Given the description of an element on the screen output the (x, y) to click on. 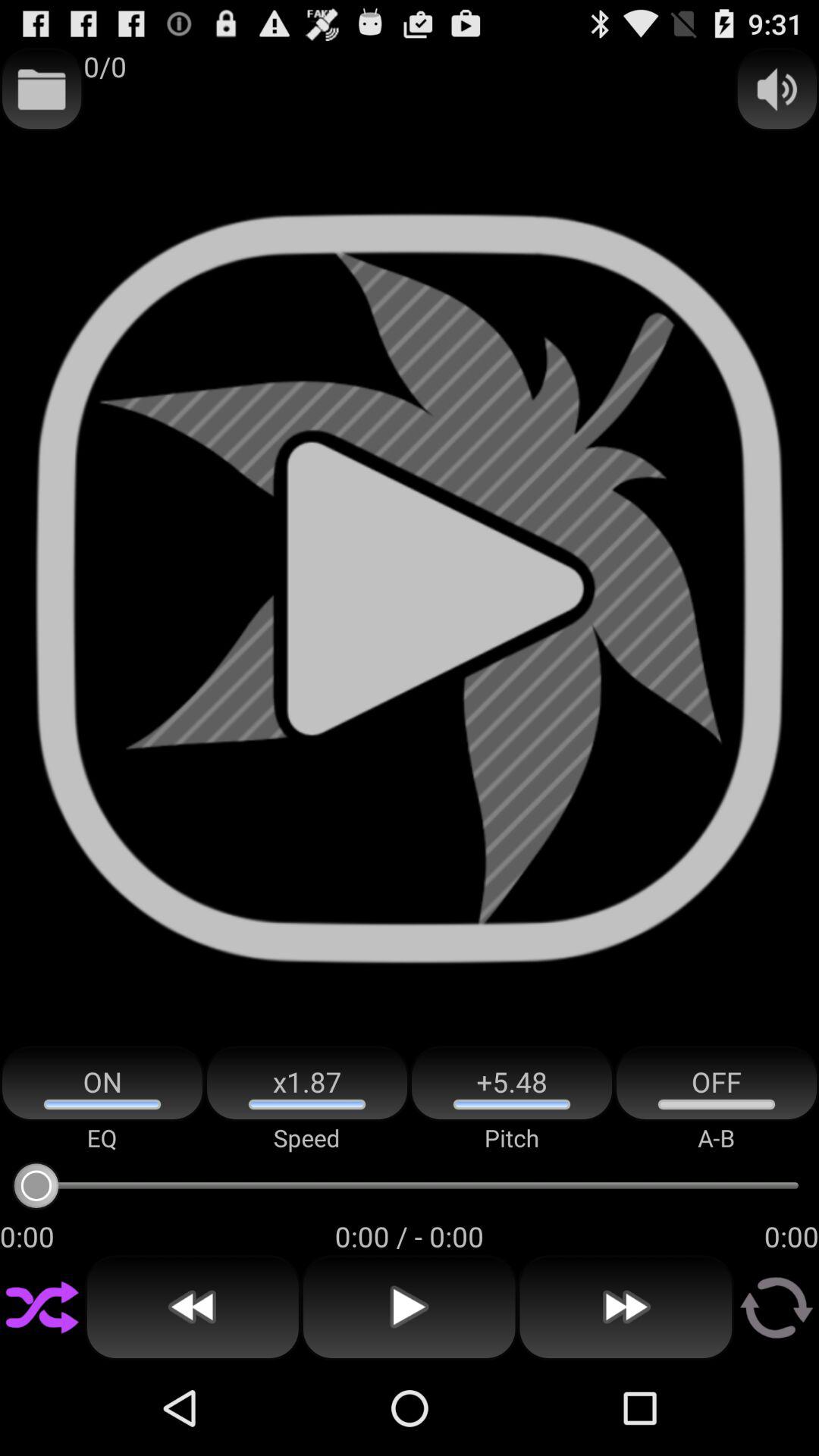
select app above pitch app (511, 1083)
